Given the description of an element on the screen output the (x, y) to click on. 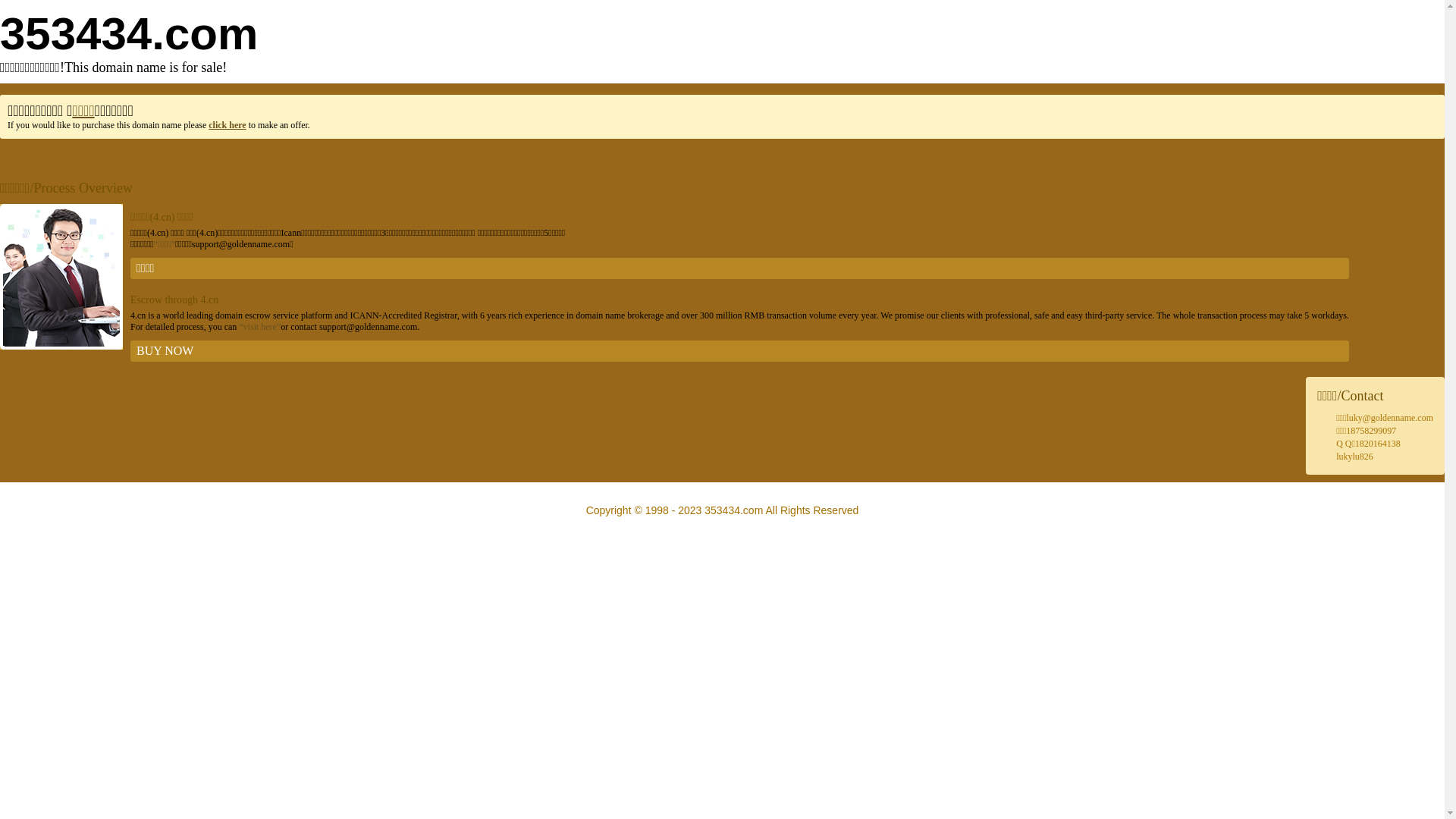
click here Element type: text (226, 124)
BUY NOW Element type: text (739, 350)
